Given the description of an element on the screen output the (x, y) to click on. 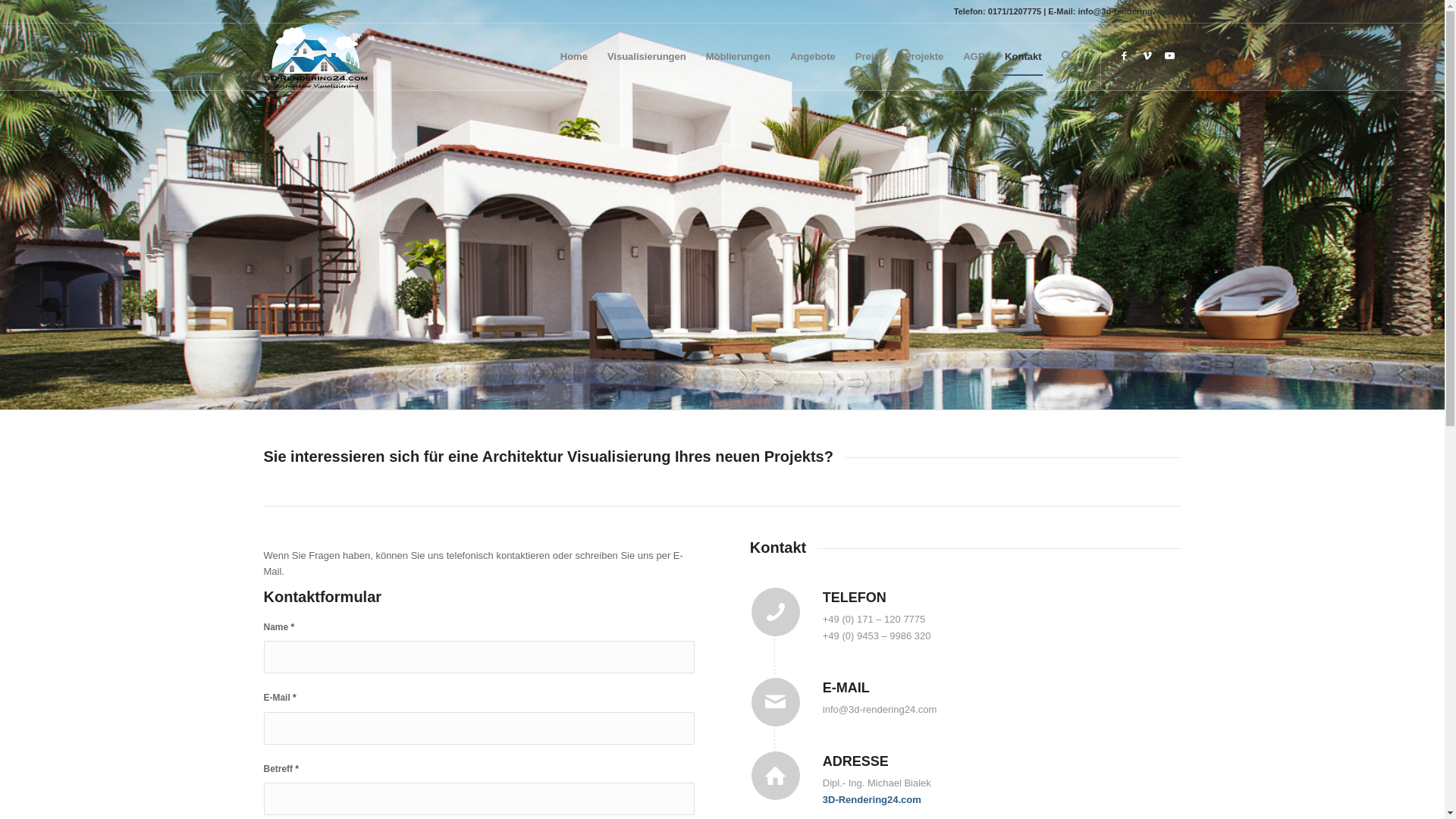
Kontakt Element type: text (1022, 56)
Facebook Element type: hover (1124, 55)
logo-3d-rendering24 Element type: hover (315, 56)
Youtube Element type: hover (1169, 55)
Vimeo Element type: hover (1146, 55)
Visualisierungen Element type: text (646, 56)
AGB Element type: text (973, 56)
Projekte Element type: text (923, 56)
Preise Element type: text (869, 56)
Home Element type: text (573, 56)
Angebote Element type: text (812, 56)
